Given the description of an element on the screen output the (x, y) to click on. 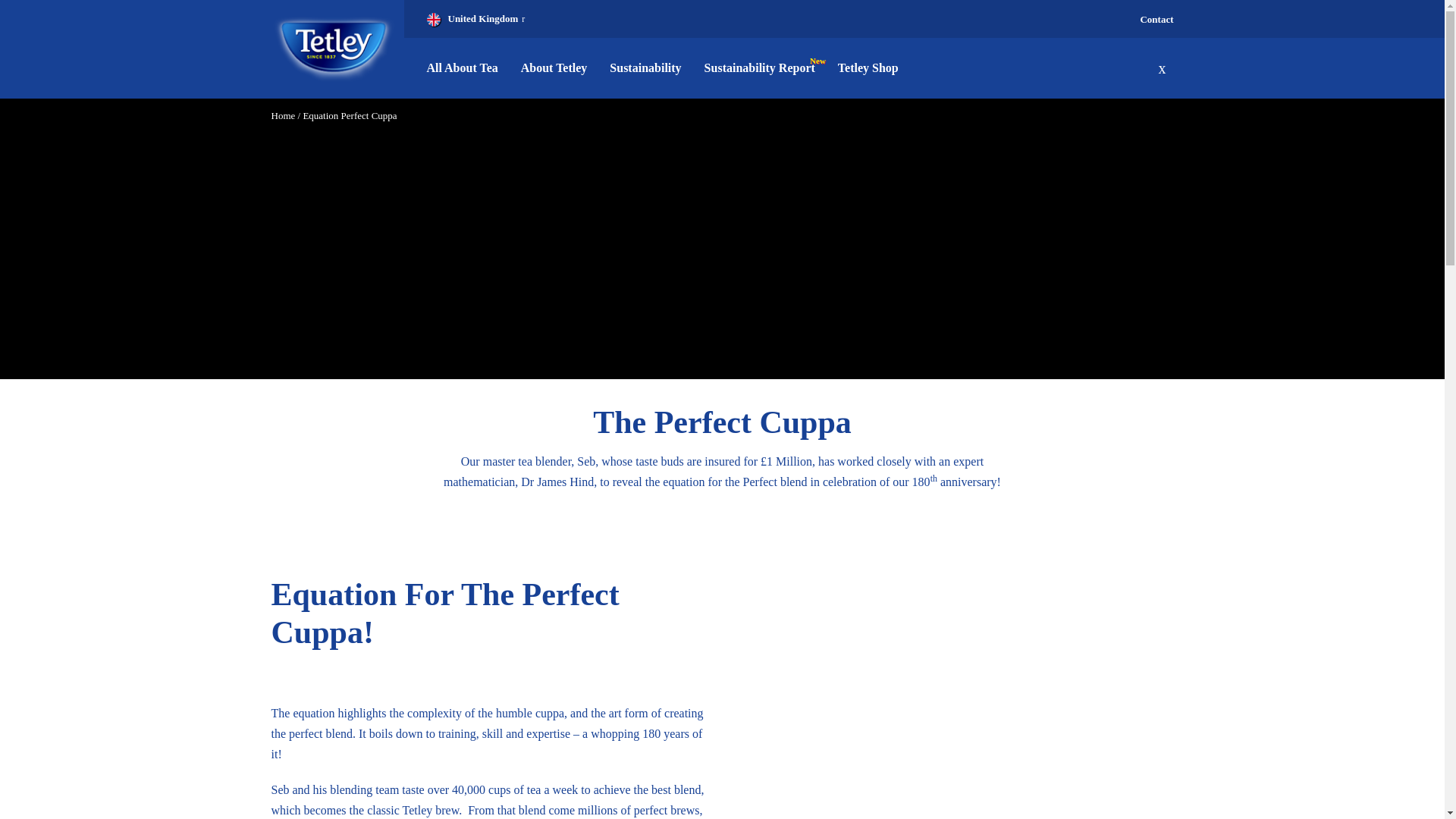
Country Selector (475, 18)
Home (282, 115)
United Kingdom (475, 18)
Contact (1156, 19)
About Tetley (553, 67)
Home (333, 47)
All About Tea (467, 67)
Contact (1156, 19)
Sustainability (645, 67)
